Given the description of an element on the screen output the (x, y) to click on. 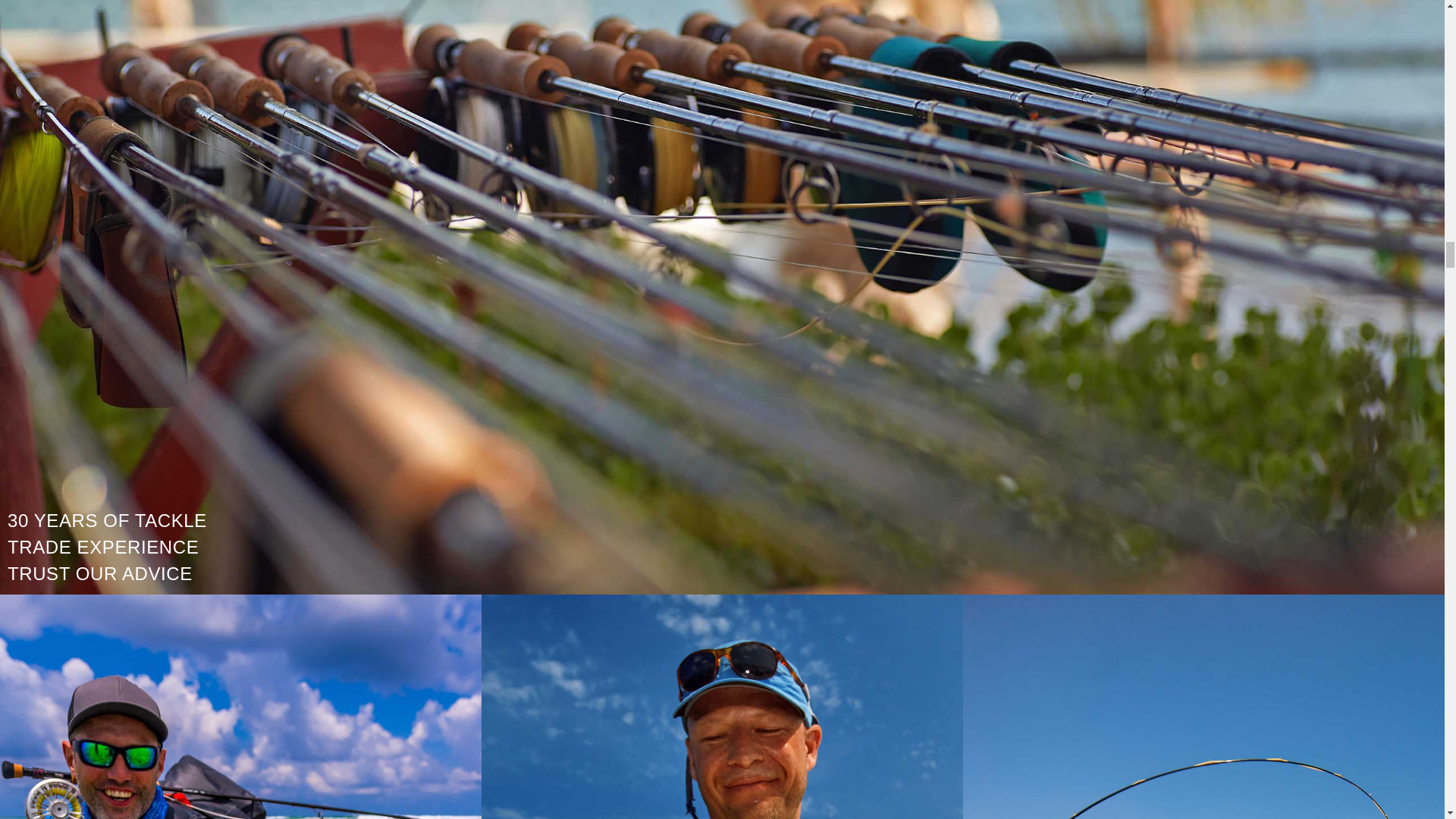
READY FOR GT? (240, 706)
PIONEERS OF THE MALDIVES (721, 706)
